Given the description of an element on the screen output the (x, y) to click on. 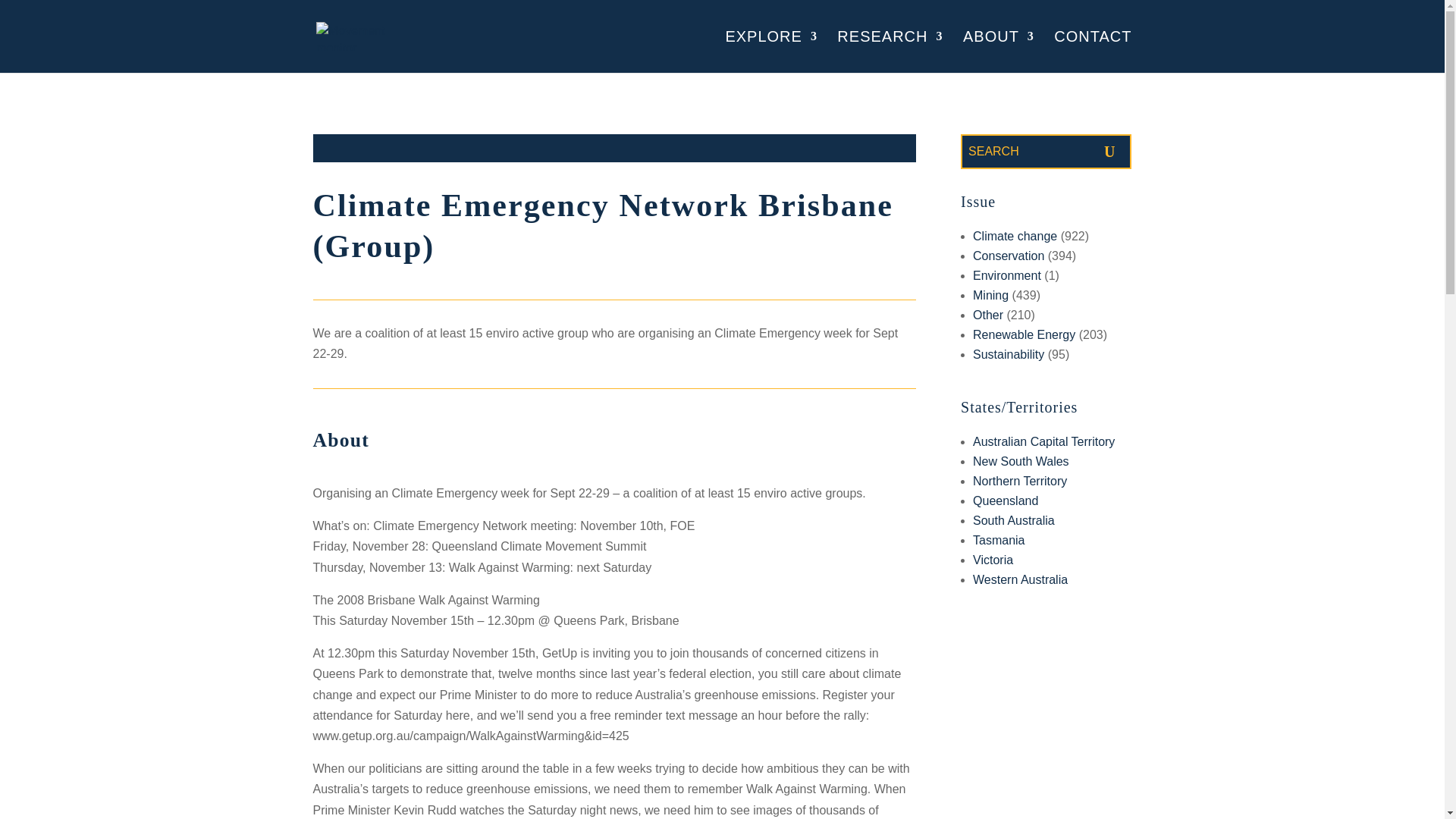
Conservation (1007, 255)
Australian Capital Territory (1043, 440)
South Australia (1013, 520)
Western Australia (1019, 579)
CONTACT (1092, 51)
Search (1021, 151)
Renewable Energy (1023, 334)
Northern Territory (1019, 481)
RESEARCH (889, 51)
EXPLORE (770, 51)
